Given the description of an element on the screen output the (x, y) to click on. 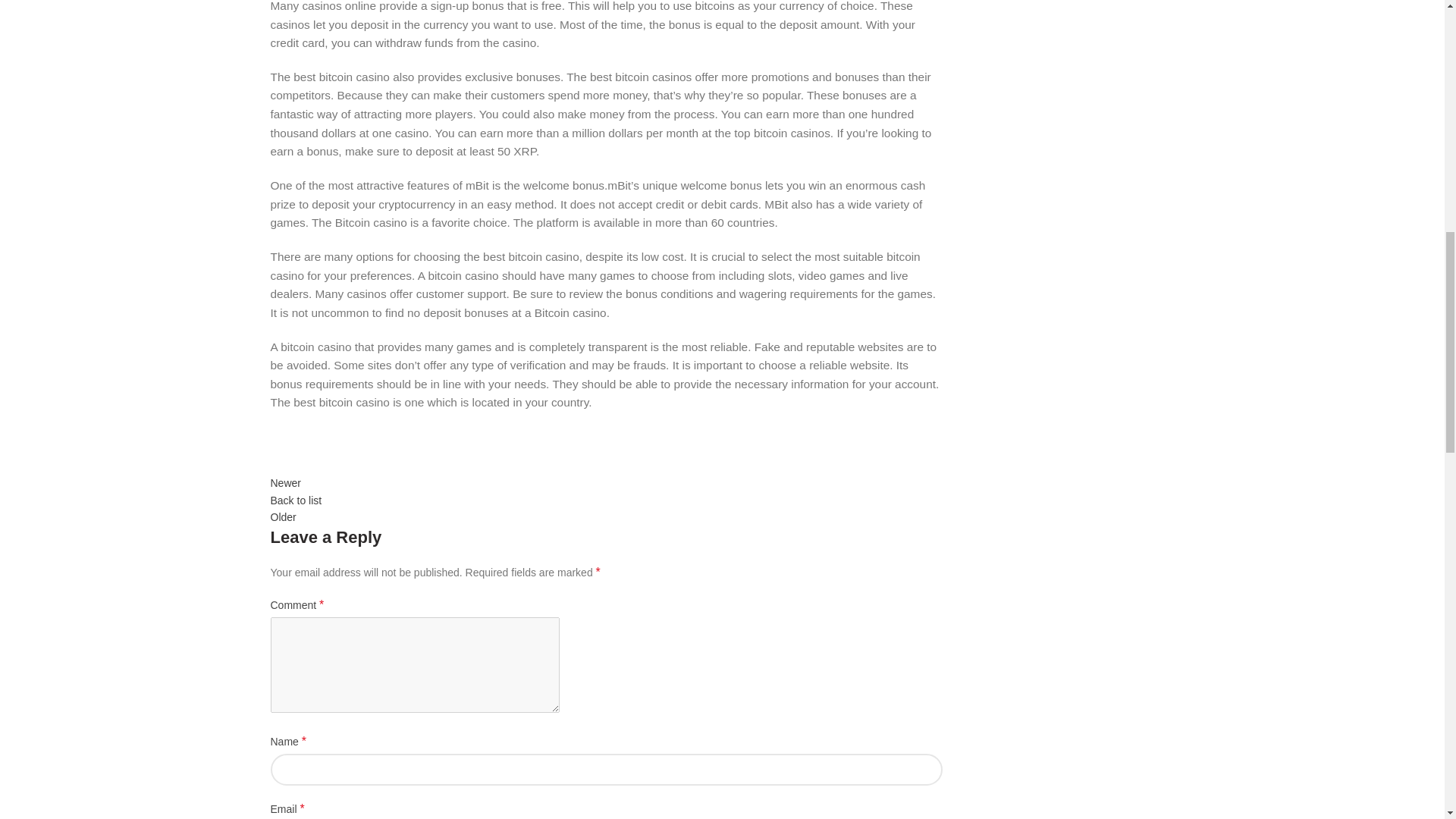
Older (282, 517)
Back to list (295, 500)
Newer (284, 482)
